Given the description of an element on the screen output the (x, y) to click on. 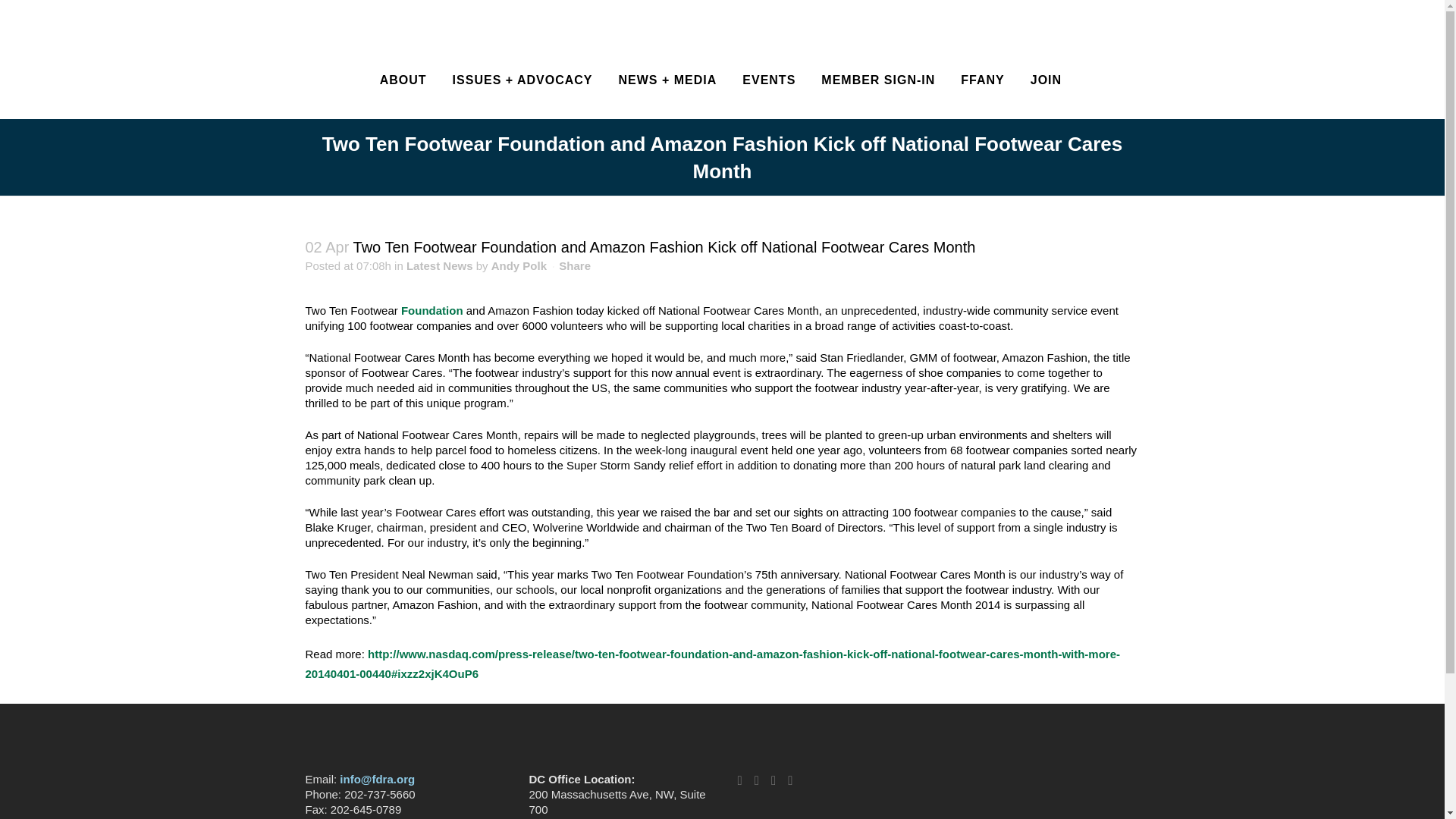
MEMBER SIGN-IN (877, 79)
FFANY (981, 79)
ABOUT (402, 79)
EVENTS (768, 79)
